Given the description of an element on the screen output the (x, y) to click on. 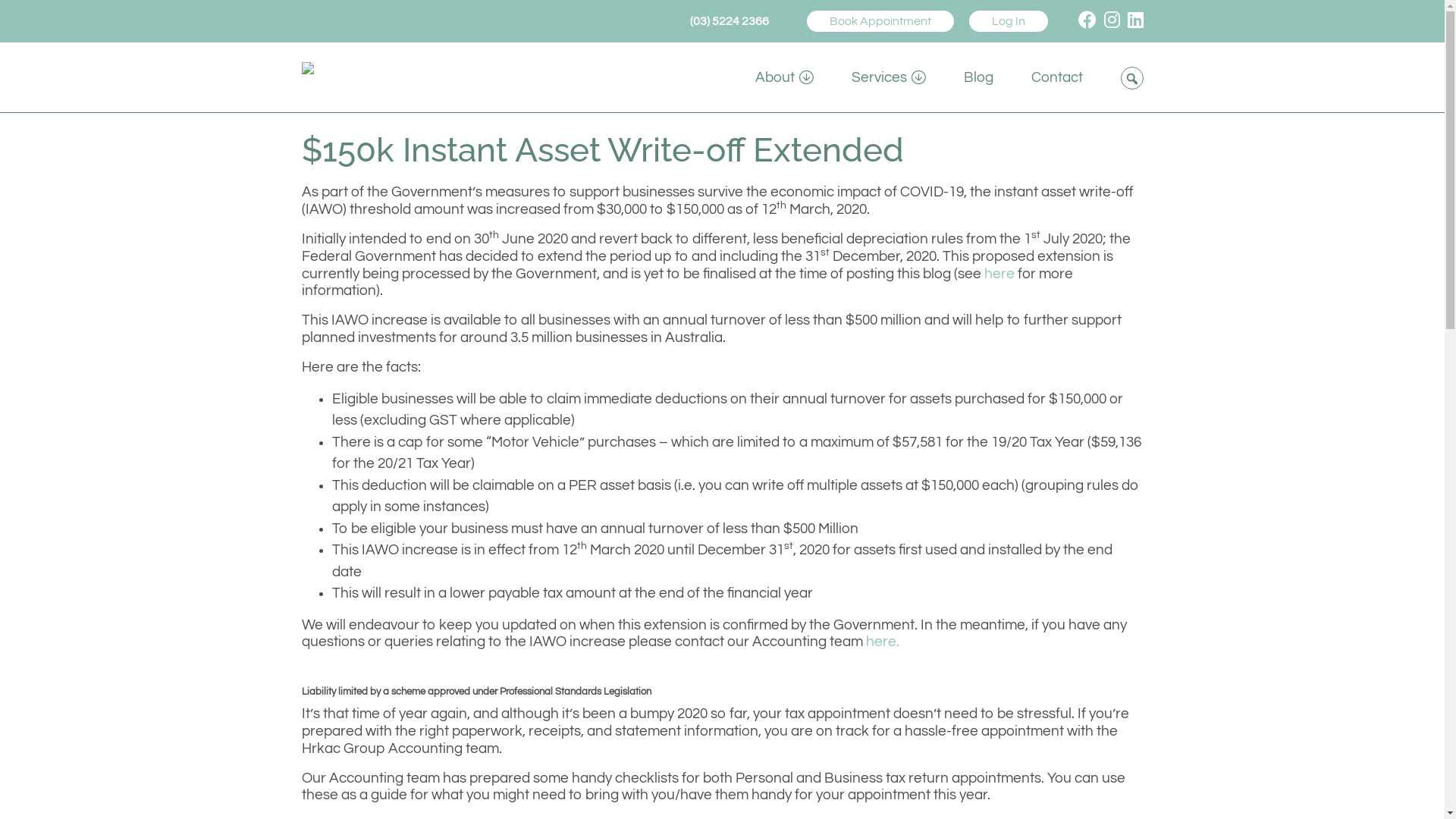
Log In Element type: text (1008, 20)
About Element type: text (784, 77)
(03) 5224 2366 Element type: text (729, 21)
Contact Element type: text (1056, 77)
Services Element type: text (887, 77)
Blog Element type: text (977, 77)
here. Element type: text (882, 641)
here Element type: text (999, 273)
Search Element type: text (11, 13)
Book Appointment Element type: text (879, 20)
